Given the description of an element on the screen output the (x, y) to click on. 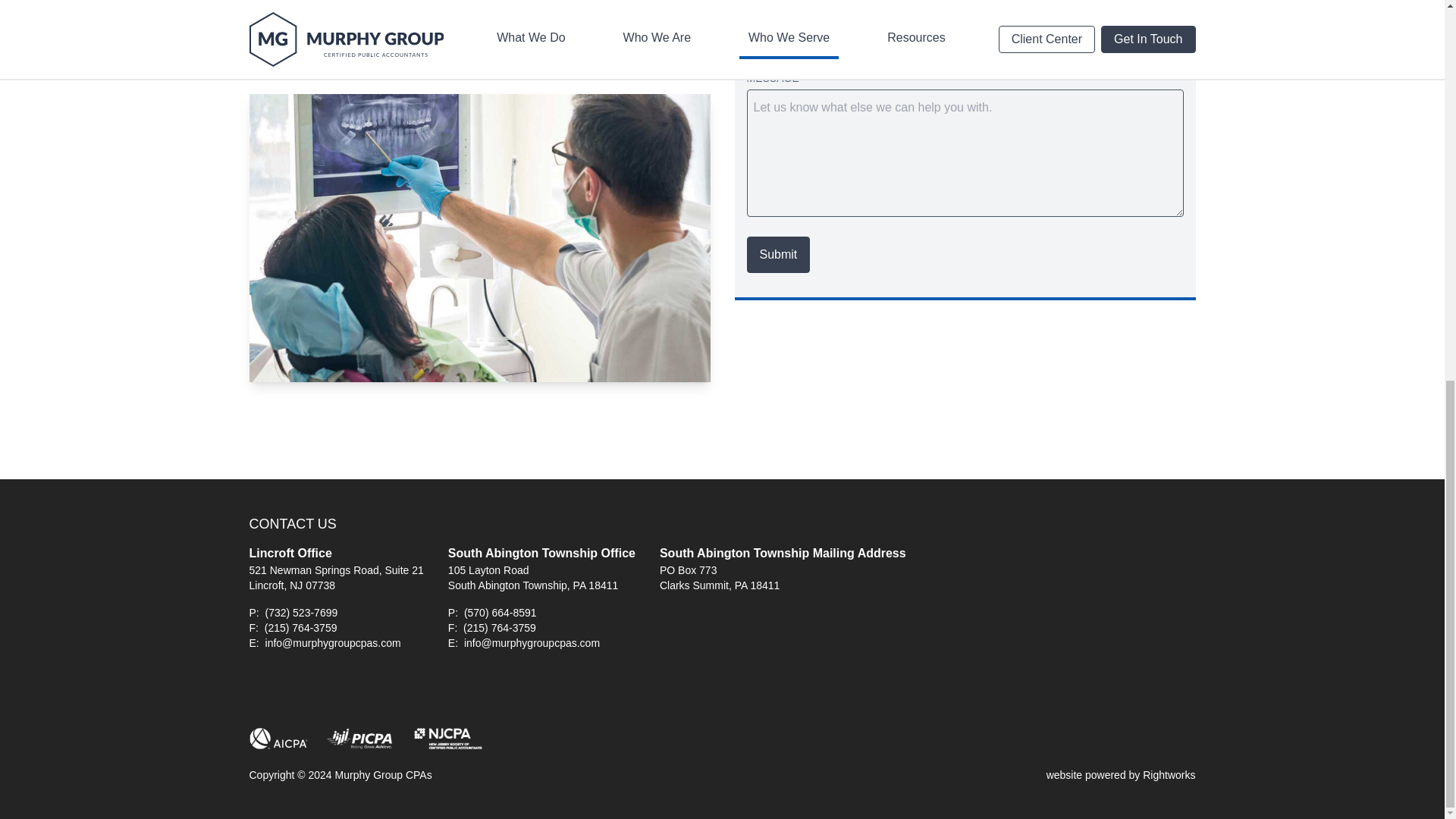
Learn more about American Institute of CPAs (277, 738)
Learn more about Pennsylvania Institute of CPAs (361, 738)
Learn more about New Jersey Society of CPAs (447, 738)
